Given the description of an element on the screen output the (x, y) to click on. 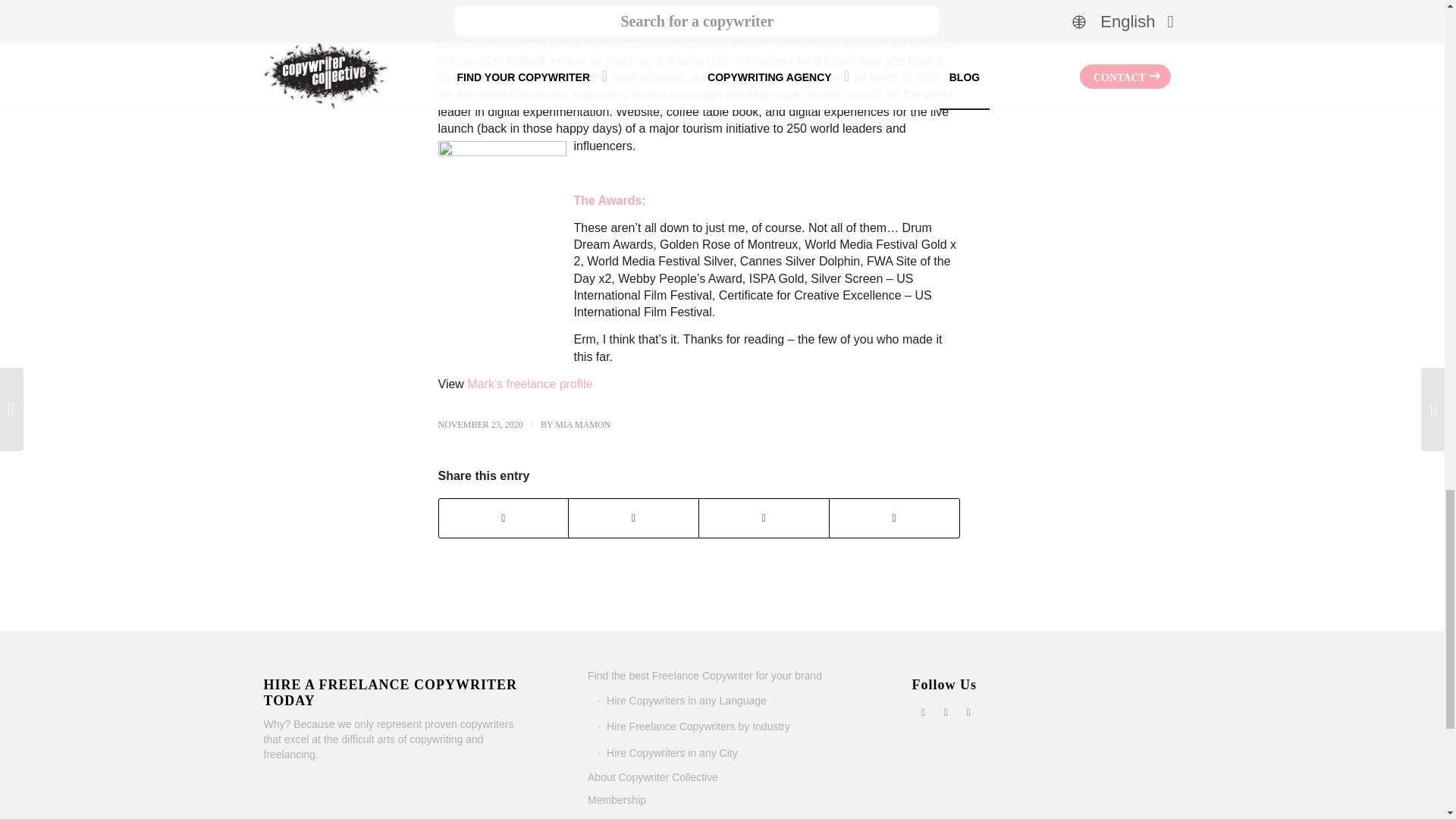
MIA MAMON (582, 424)
Posts by Mia Mamon (582, 424)
Twitter (946, 712)
Linkedin (968, 712)
Facebook (923, 712)
